Given the description of an element on the screen output the (x, y) to click on. 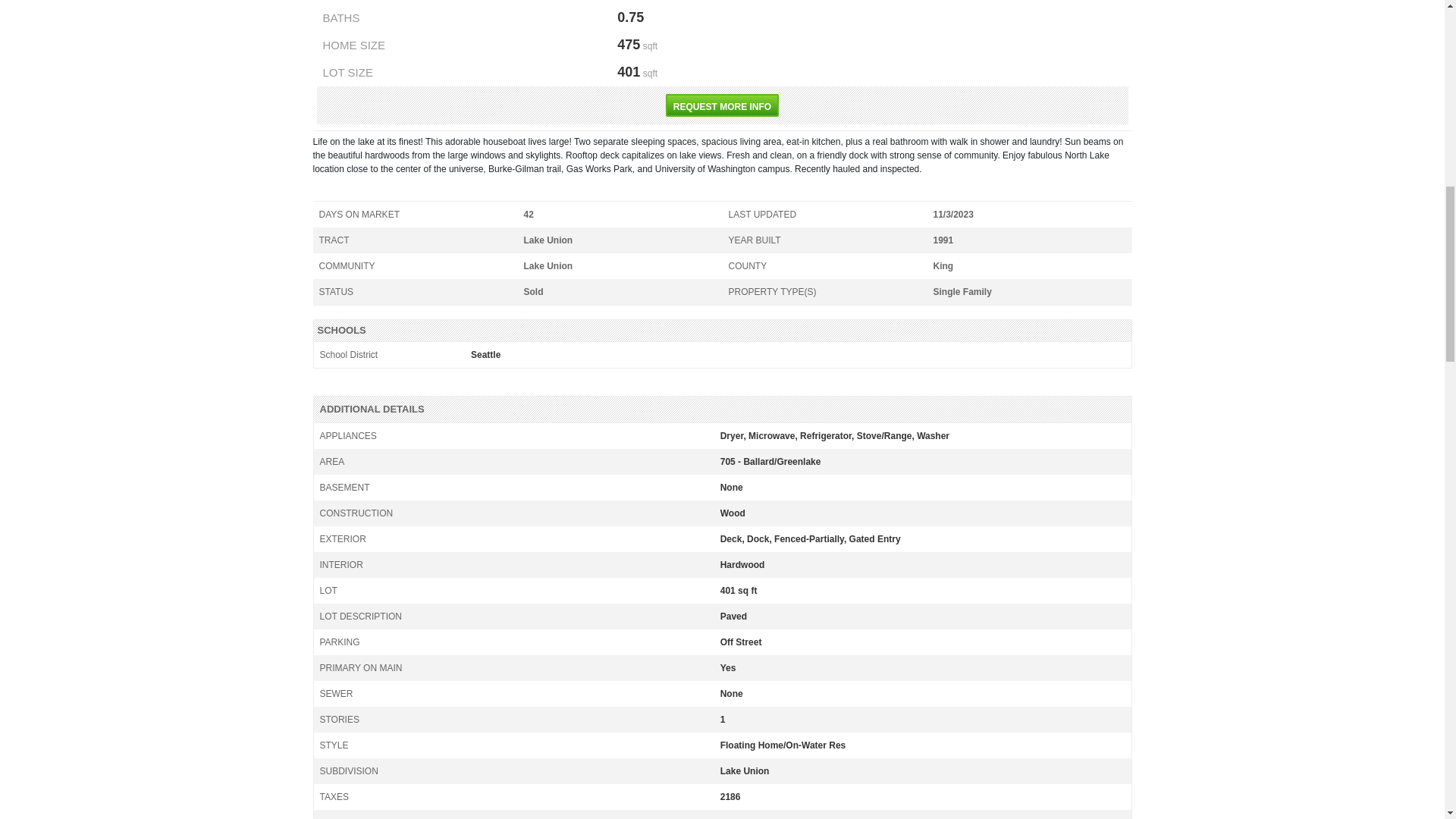
REQUEST MORE INFO (721, 105)
